Given the description of an element on the screen output the (x, y) to click on. 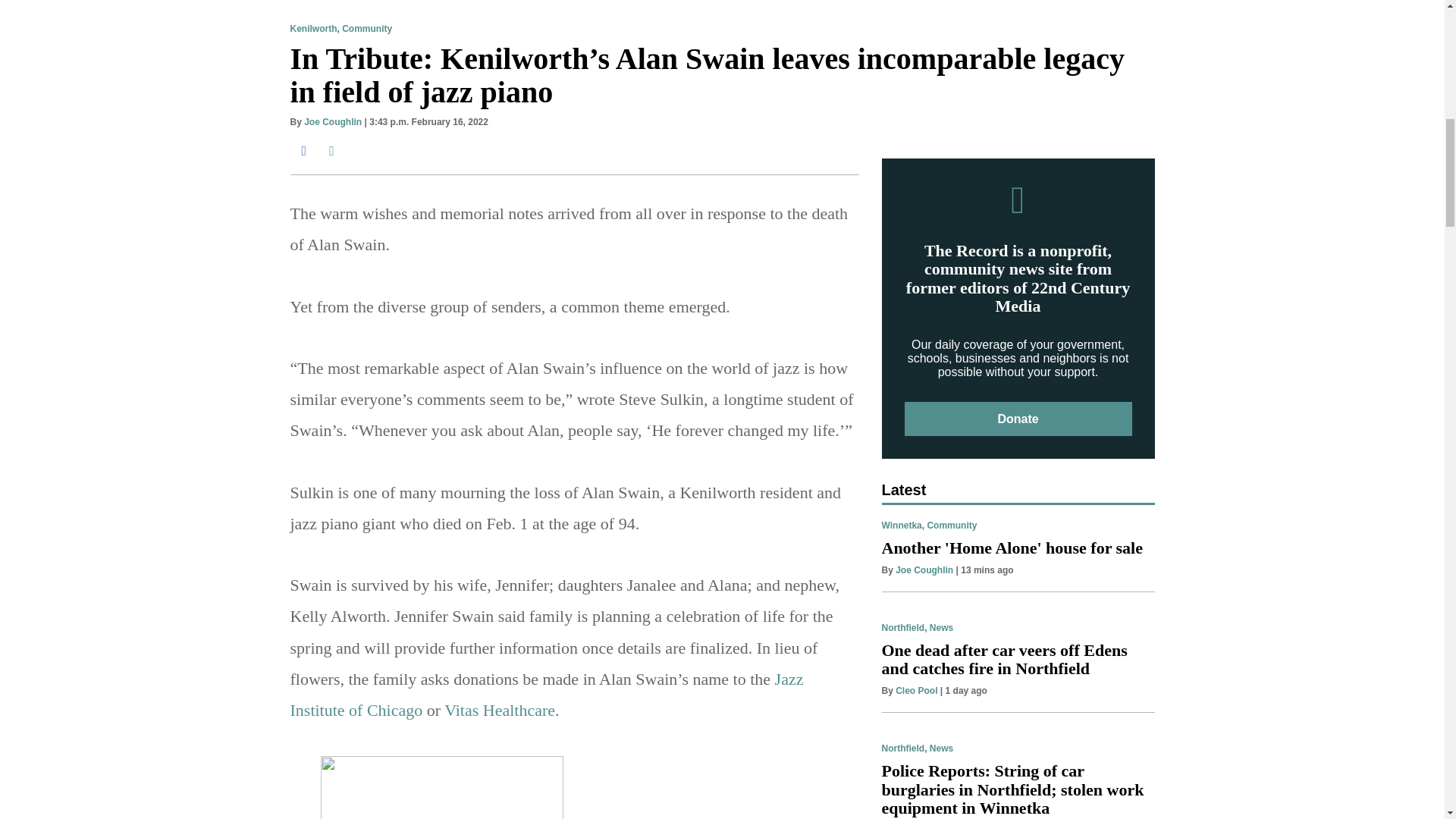
Joe Coughlin (332, 122)
Community (366, 28)
Kenilworth (312, 28)
